Given the description of an element on the screen output the (x, y) to click on. 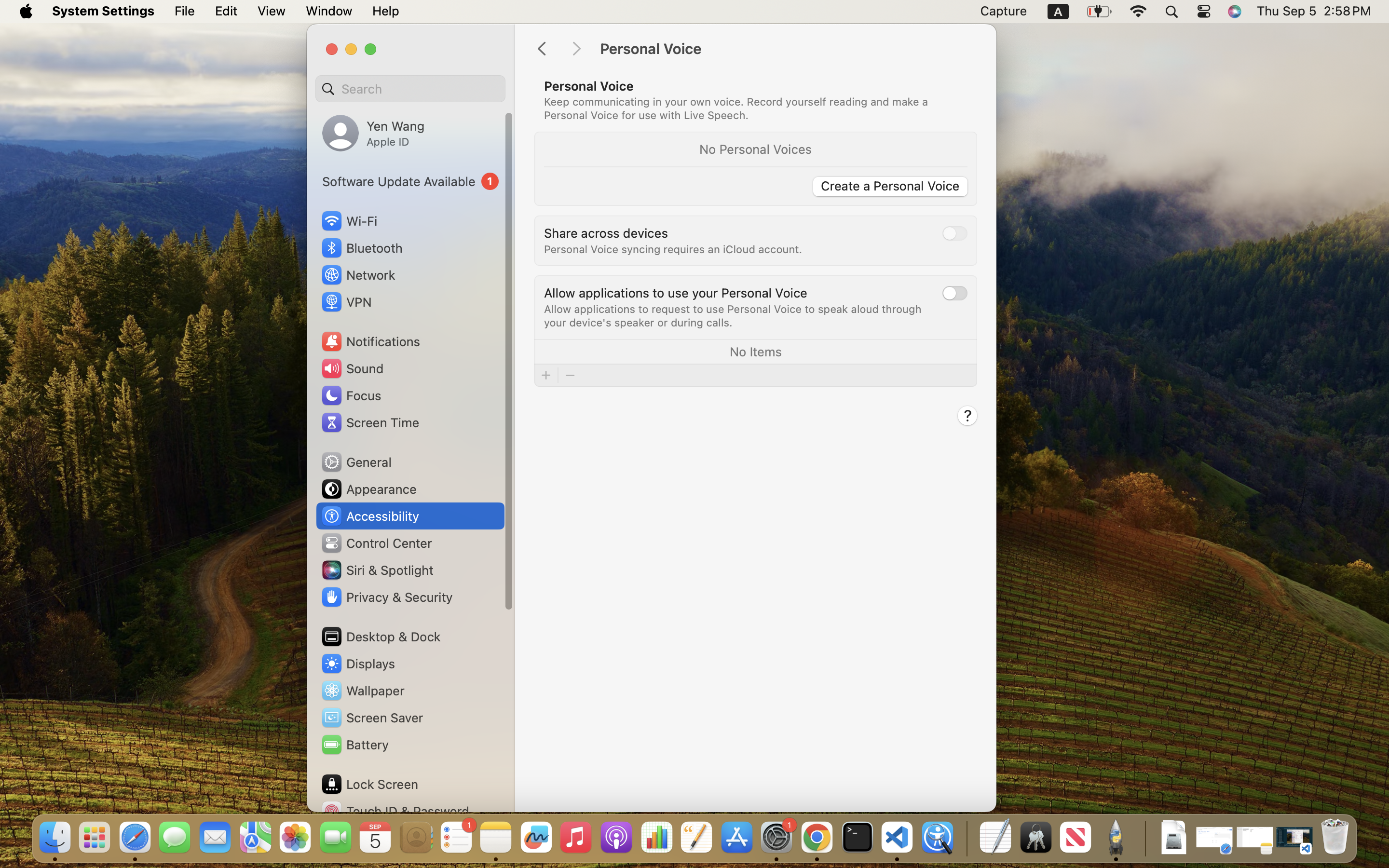
Allow applications to use your Personal Voice Element type: AXStaticText (675, 291)
Lock Screen Element type: AXStaticText (369, 783)
VPN Element type: AXStaticText (345, 301)
Appearance Element type: AXStaticText (368, 488)
Siri & Spotlight Element type: AXStaticText (376, 569)
